Given the description of an element on the screen output the (x, y) to click on. 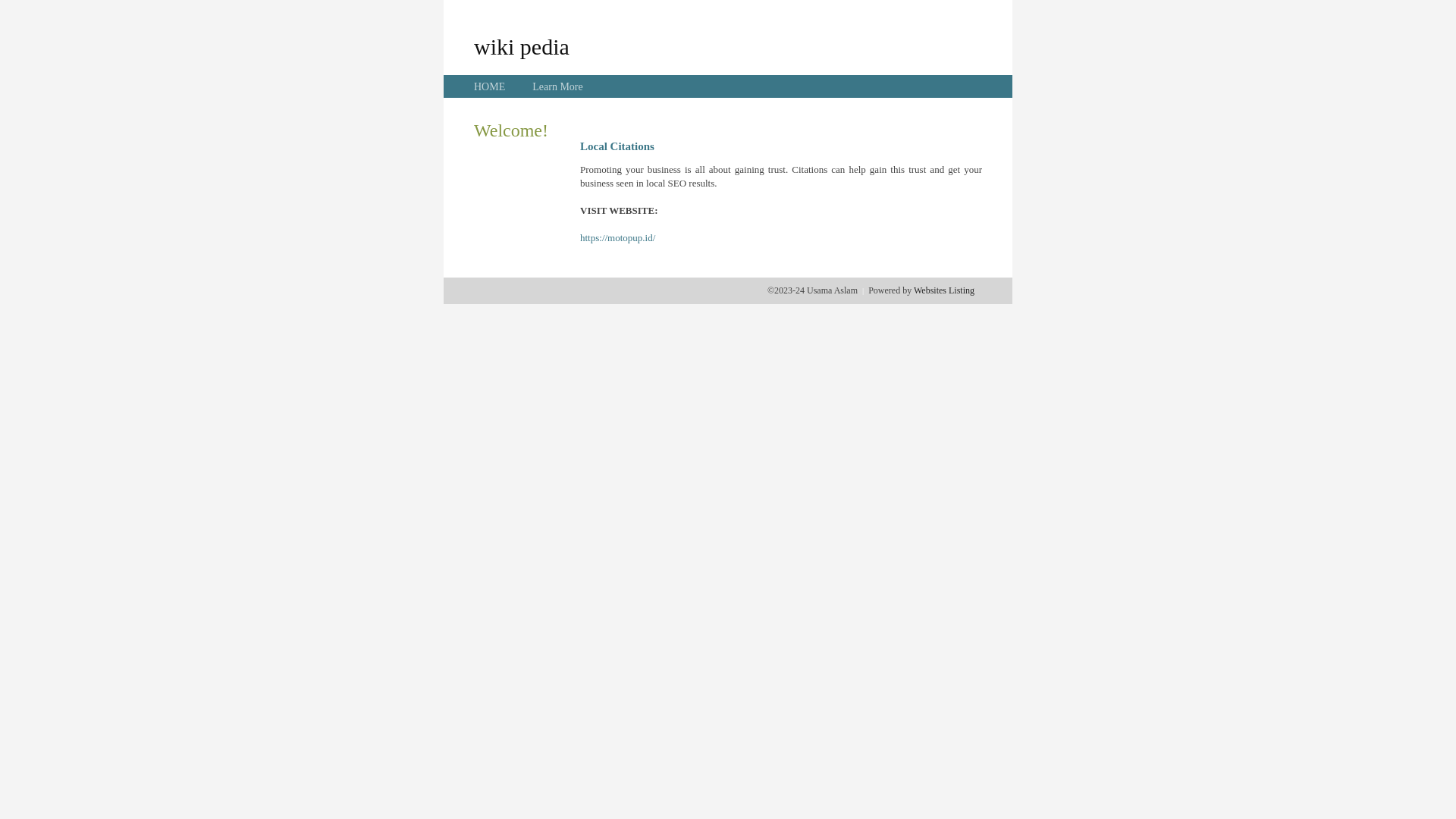
Learn More Element type: text (557, 86)
Websites Listing Element type: text (943, 290)
https://motopup.id/ Element type: text (617, 237)
HOME Element type: text (489, 86)
wiki pedia Element type: text (521, 46)
